Given the description of an element on the screen output the (x, y) to click on. 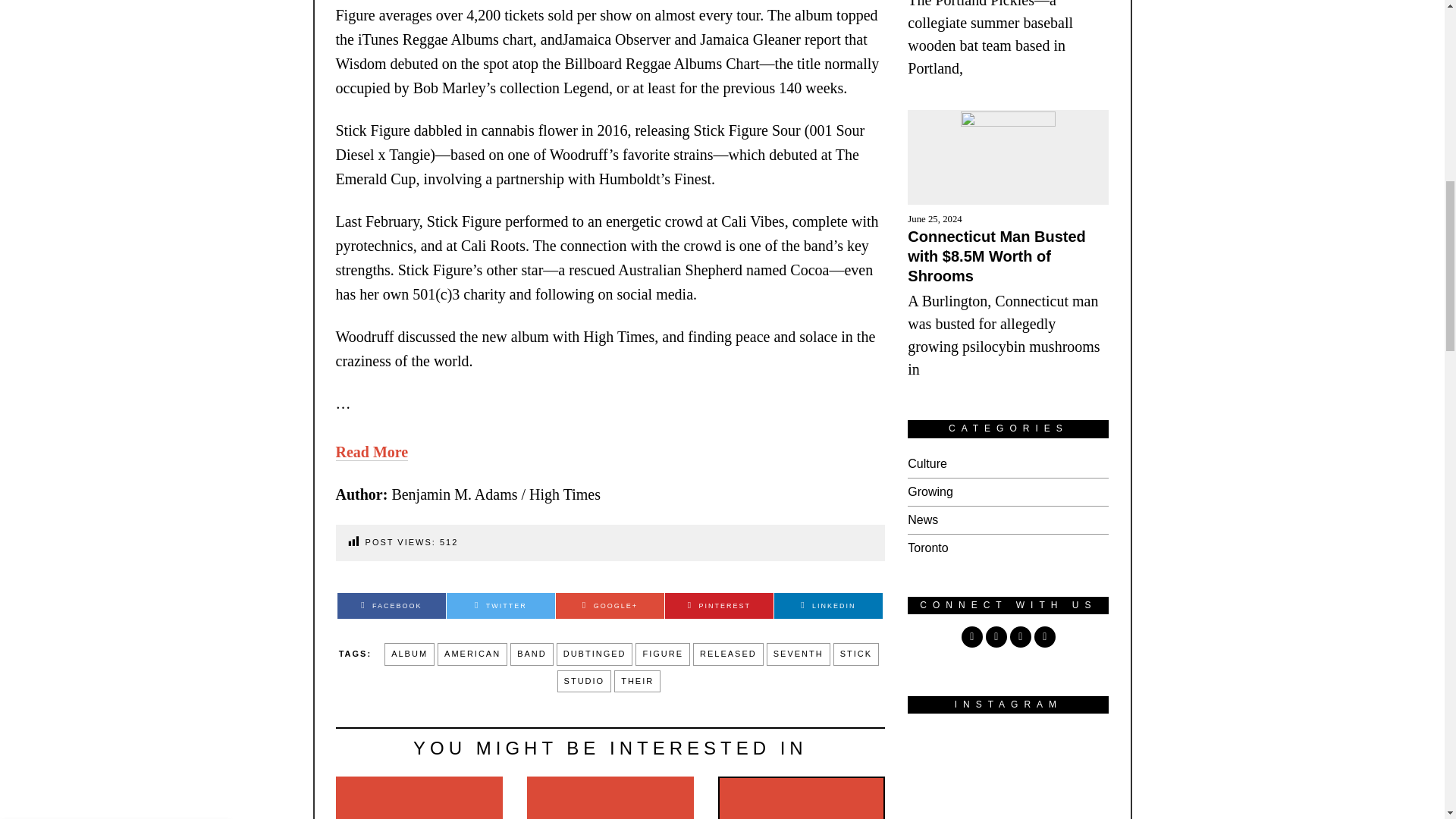
RELEASED (727, 653)
FACEBOOK (391, 605)
ALBUM (408, 653)
AMERICAN (472, 653)
Facebook (391, 605)
STUDIO (584, 681)
Instagram (996, 636)
DUBTINGED (594, 653)
BAND (532, 653)
Read More (370, 452)
